Given the description of an element on the screen output the (x, y) to click on. 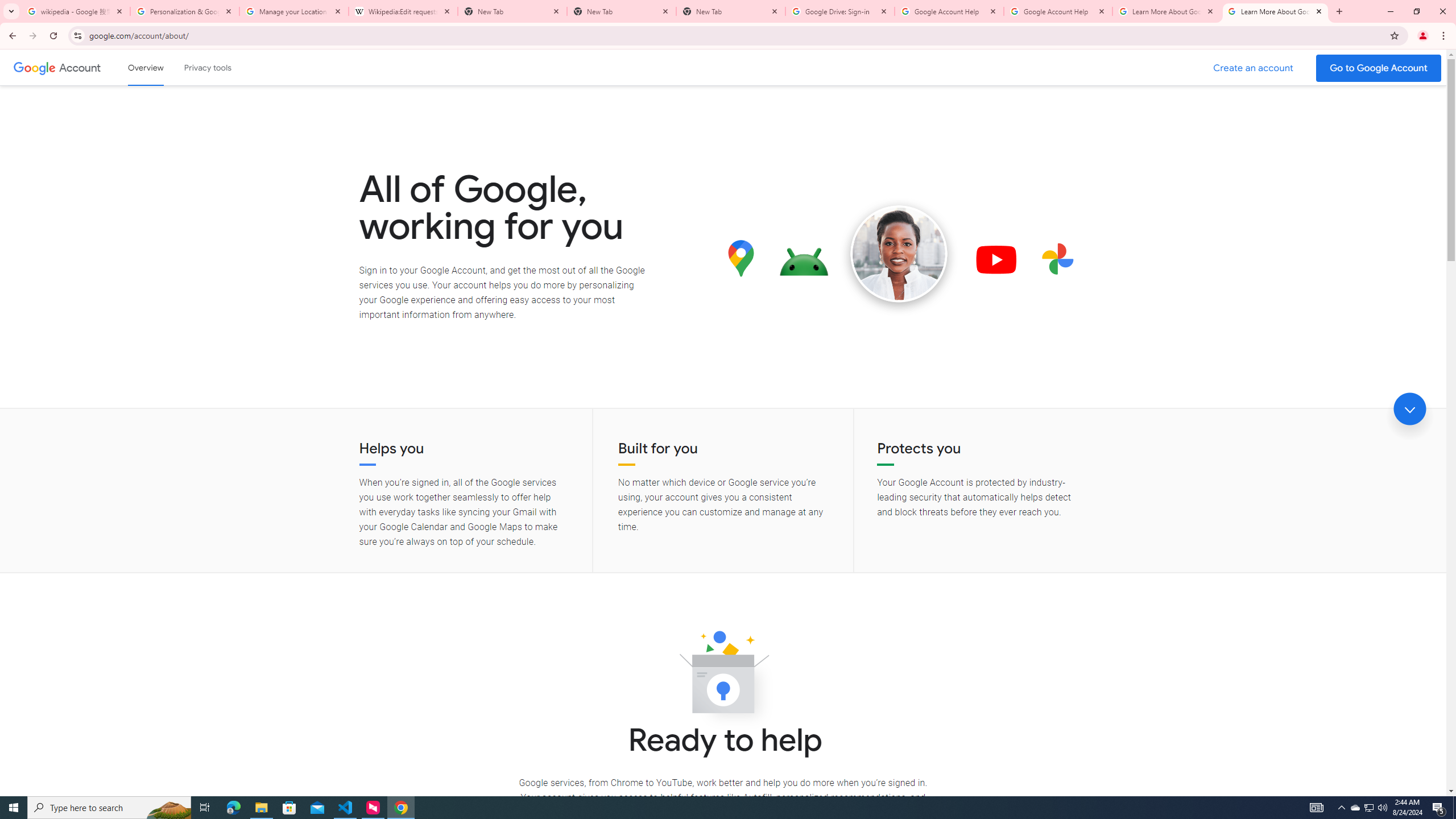
Privacy tools (207, 67)
Manage your Location History - Google Search Help (293, 11)
